Given the description of an element on the screen output the (x, y) to click on. 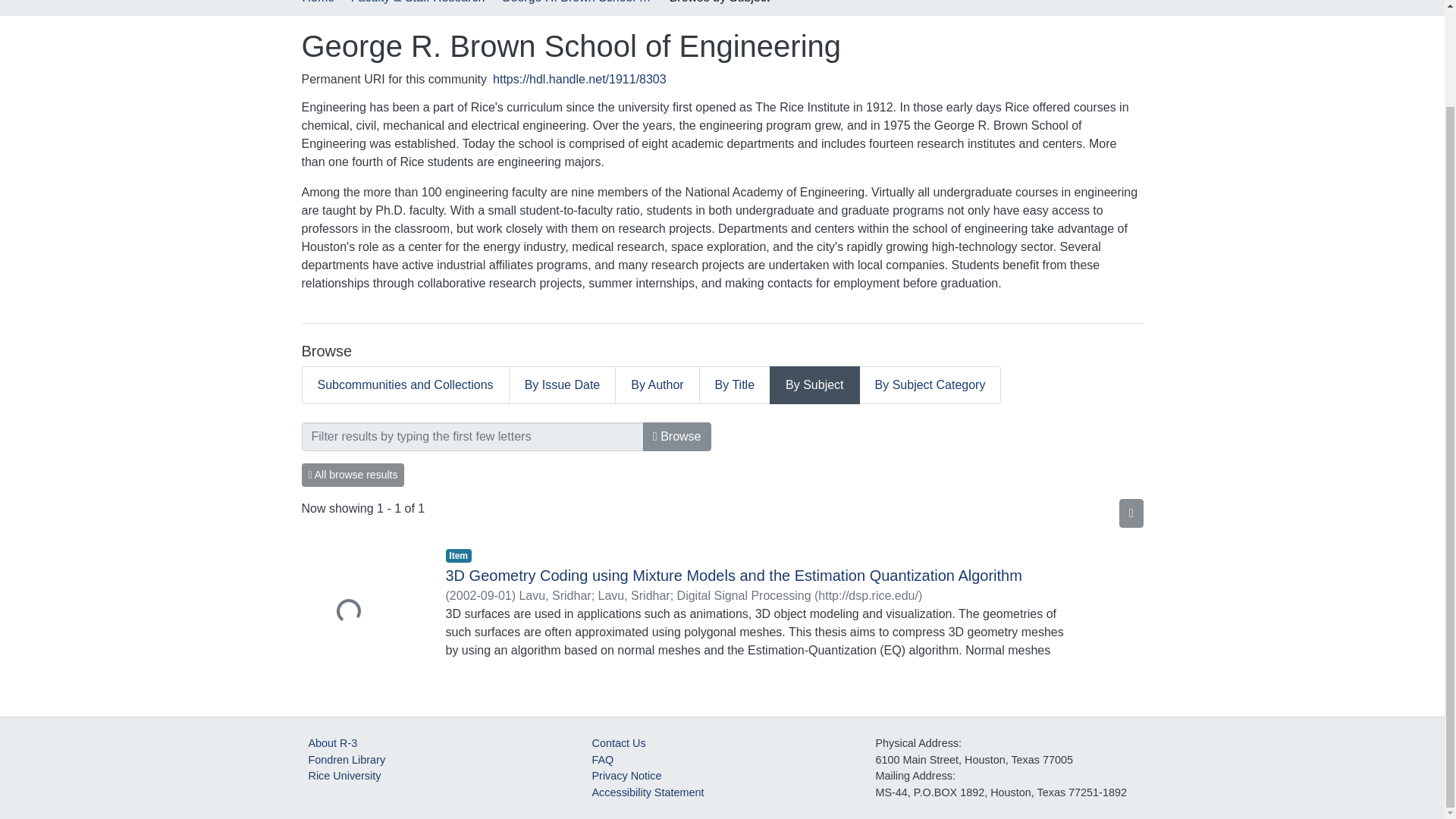
All browse results (352, 474)
By Title (735, 385)
By Author (656, 385)
By Issue Date (562, 385)
Browse (677, 436)
By Subject Category (930, 385)
Home (317, 3)
Loading... (362, 613)
George R. Brown School of Engineering (576, 3)
Subcommunities and Collections (405, 385)
By Subject (814, 385)
